Given the description of an element on the screen output the (x, y) to click on. 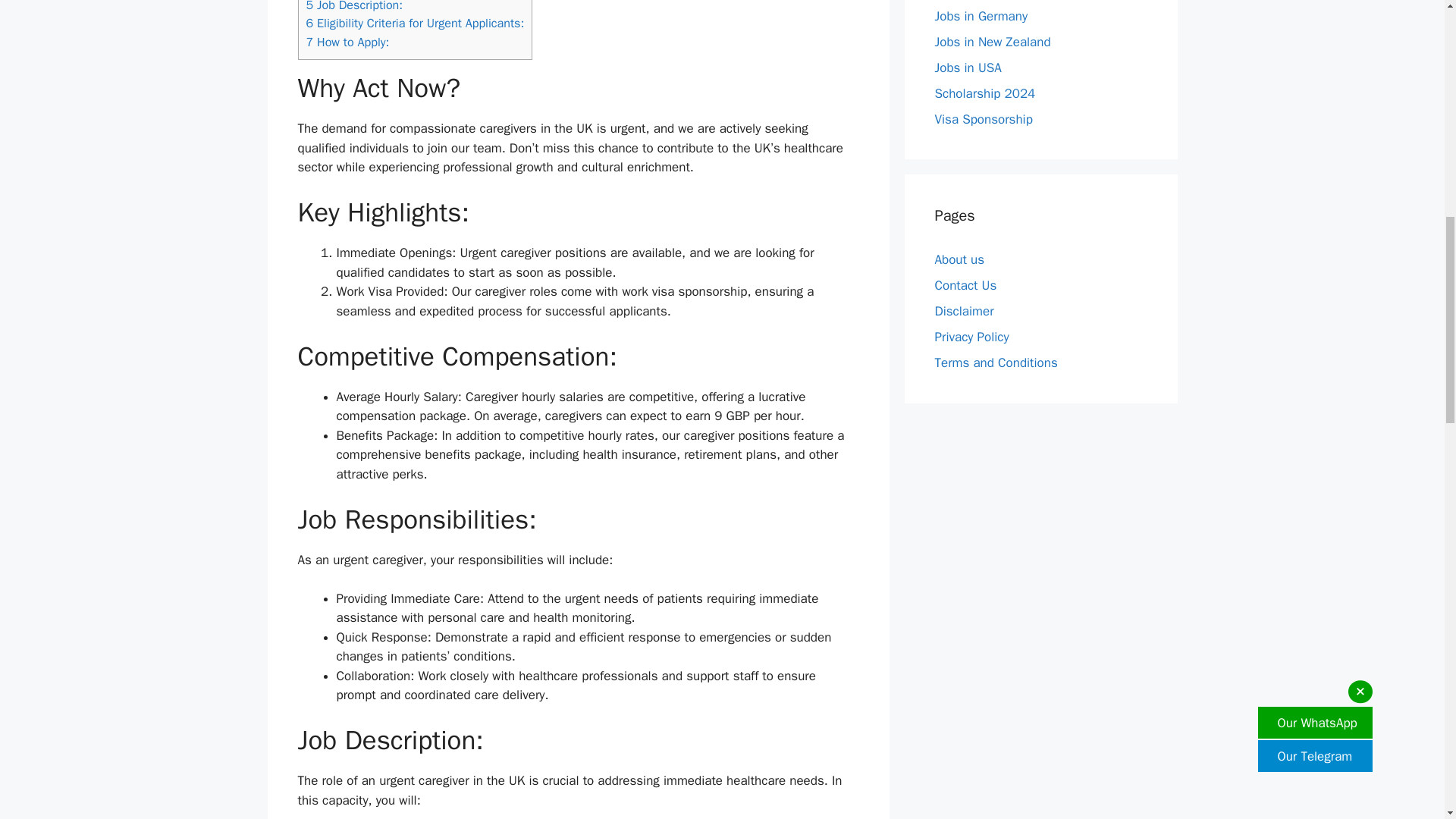
Visa Sponsorship (983, 118)
6 Eligibility Criteria for Urgent Applicants: (414, 23)
About us (959, 259)
Jobs in New Zealand (991, 41)
5 Job Description: (354, 6)
Jobs in Germany (980, 15)
Scholarship 2024 (984, 92)
7 How to Apply: (347, 41)
Jobs in USA (967, 66)
